Given the description of an element on the screen output the (x, y) to click on. 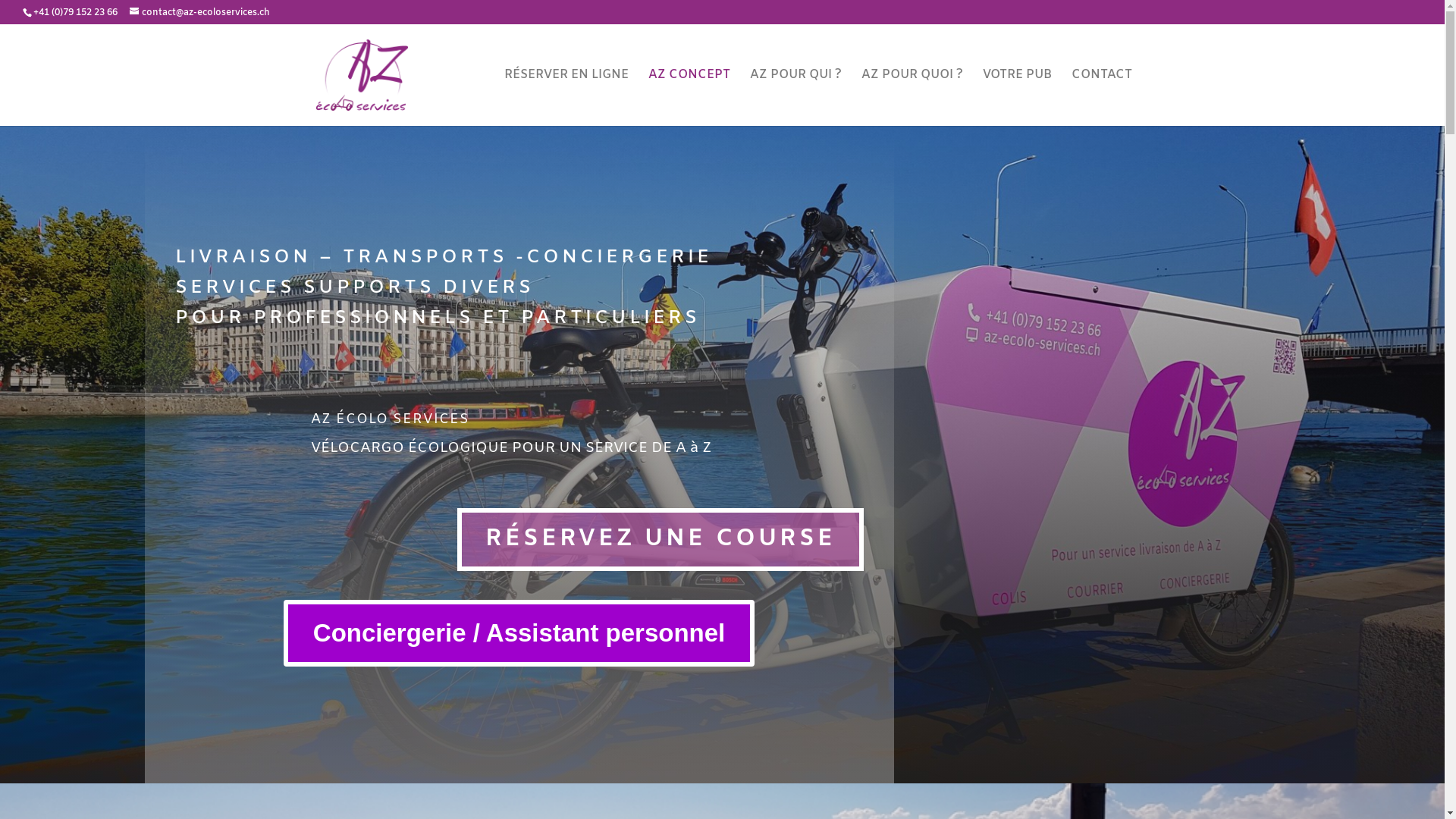
VOTRE PUB Element type: text (1016, 97)
AZ CONCEPT Element type: text (688, 97)
+41 (0)79 152 23 66 Element type: text (75, 12)
AZ POUR QUI ? Element type: text (794, 97)
AZ POUR QUOI ? Element type: text (912, 97)
Conciergerie / Assistant personnel Element type: text (518, 632)
contact@az-ecoloservices.ch Element type: text (199, 12)
CONTACT Element type: text (1100, 97)
